Given the description of an element on the screen output the (x, y) to click on. 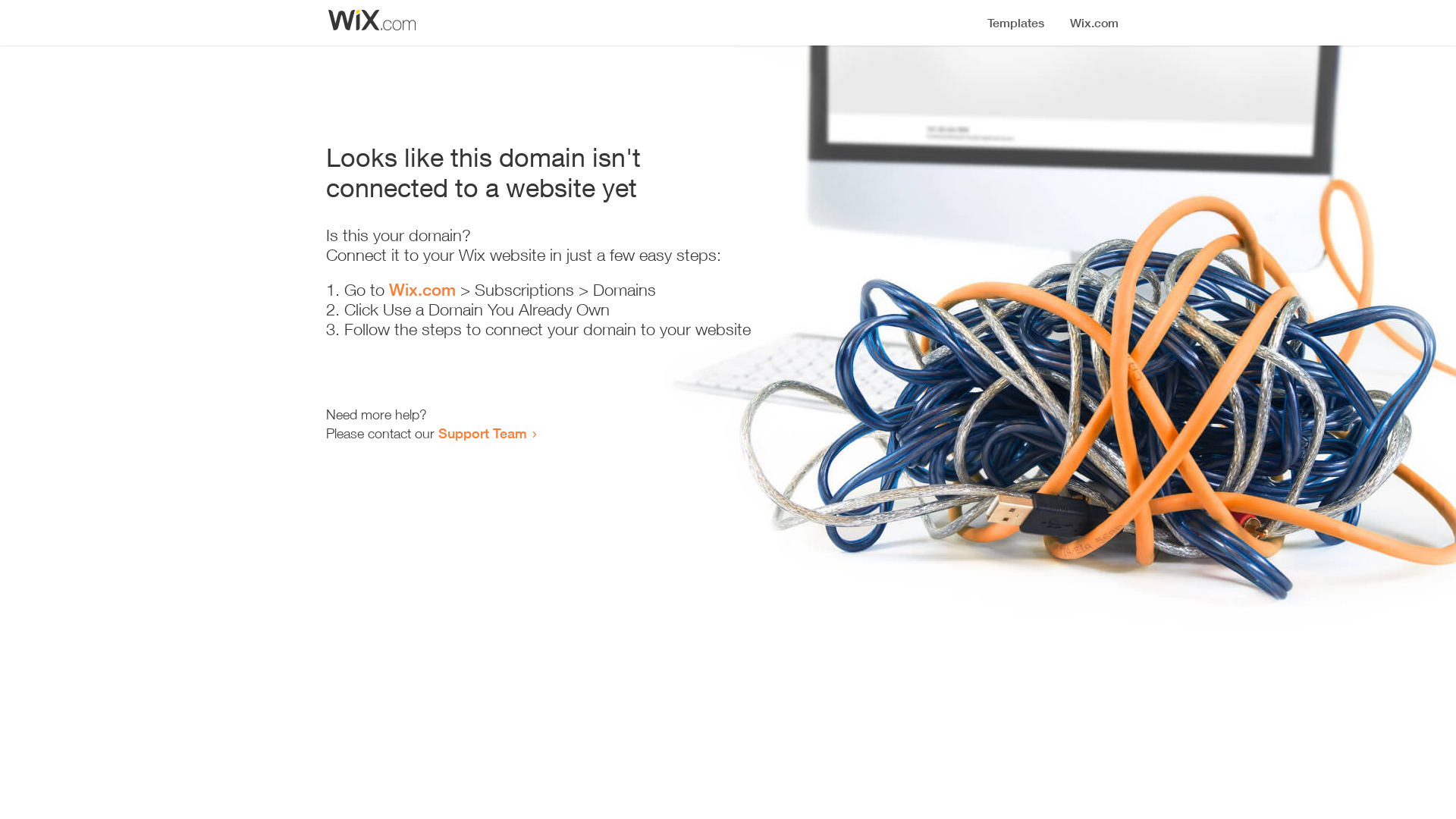
Support Team Element type: text (482, 432)
Wix.com Element type: text (422, 289)
